Given the description of an element on the screen output the (x, y) to click on. 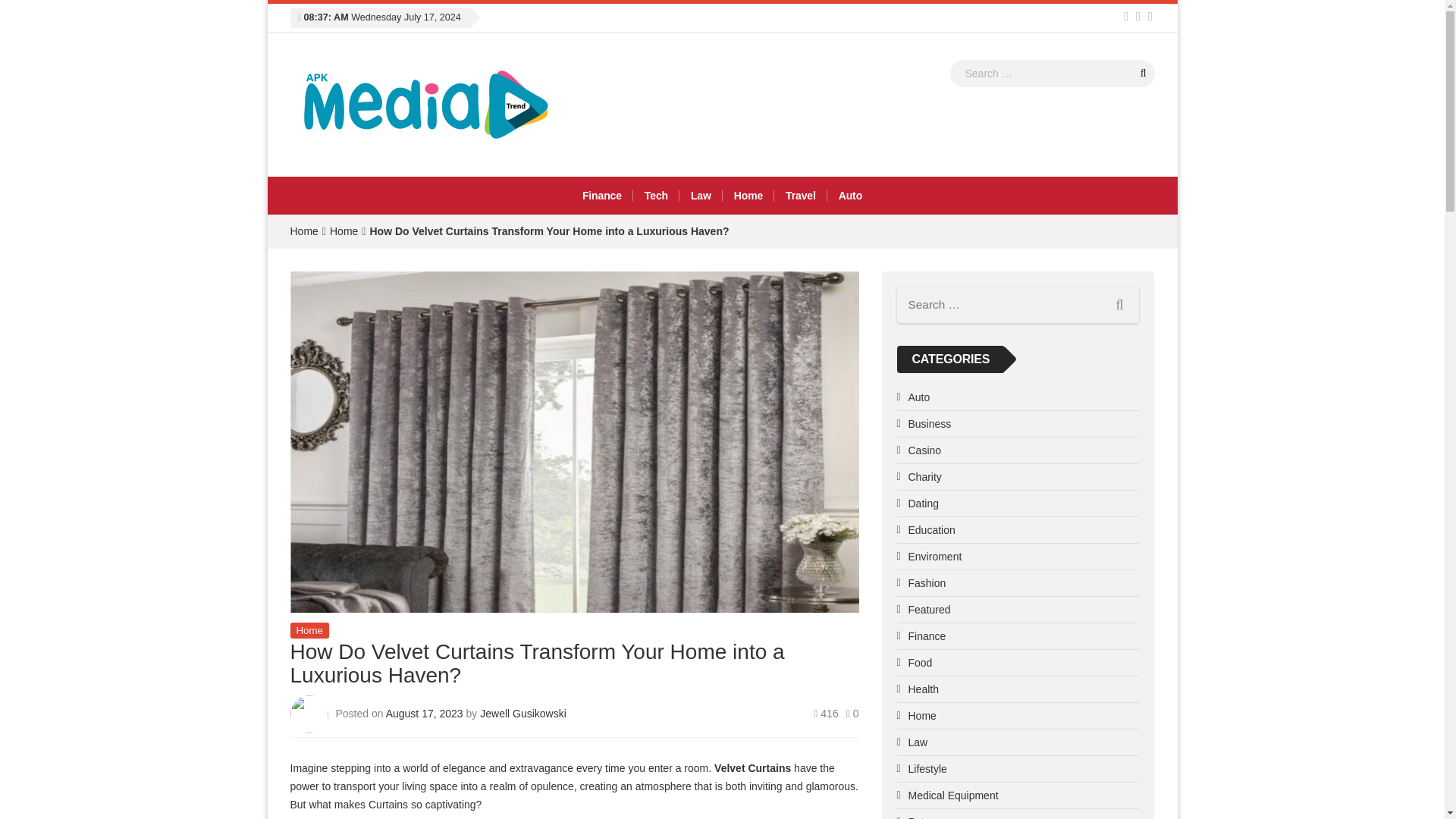
Search (1143, 72)
Home (344, 231)
Finance (601, 195)
Home (309, 630)
Home (303, 231)
Velvet Curtains (752, 767)
Home (303, 231)
Jewell Gusikowski (523, 712)
Tech (656, 195)
Travel (800, 195)
Home (748, 195)
0 (852, 713)
Law (700, 195)
August 17, 2023 (425, 712)
Auto (850, 195)
